Given the description of an element on the screen output the (x, y) to click on. 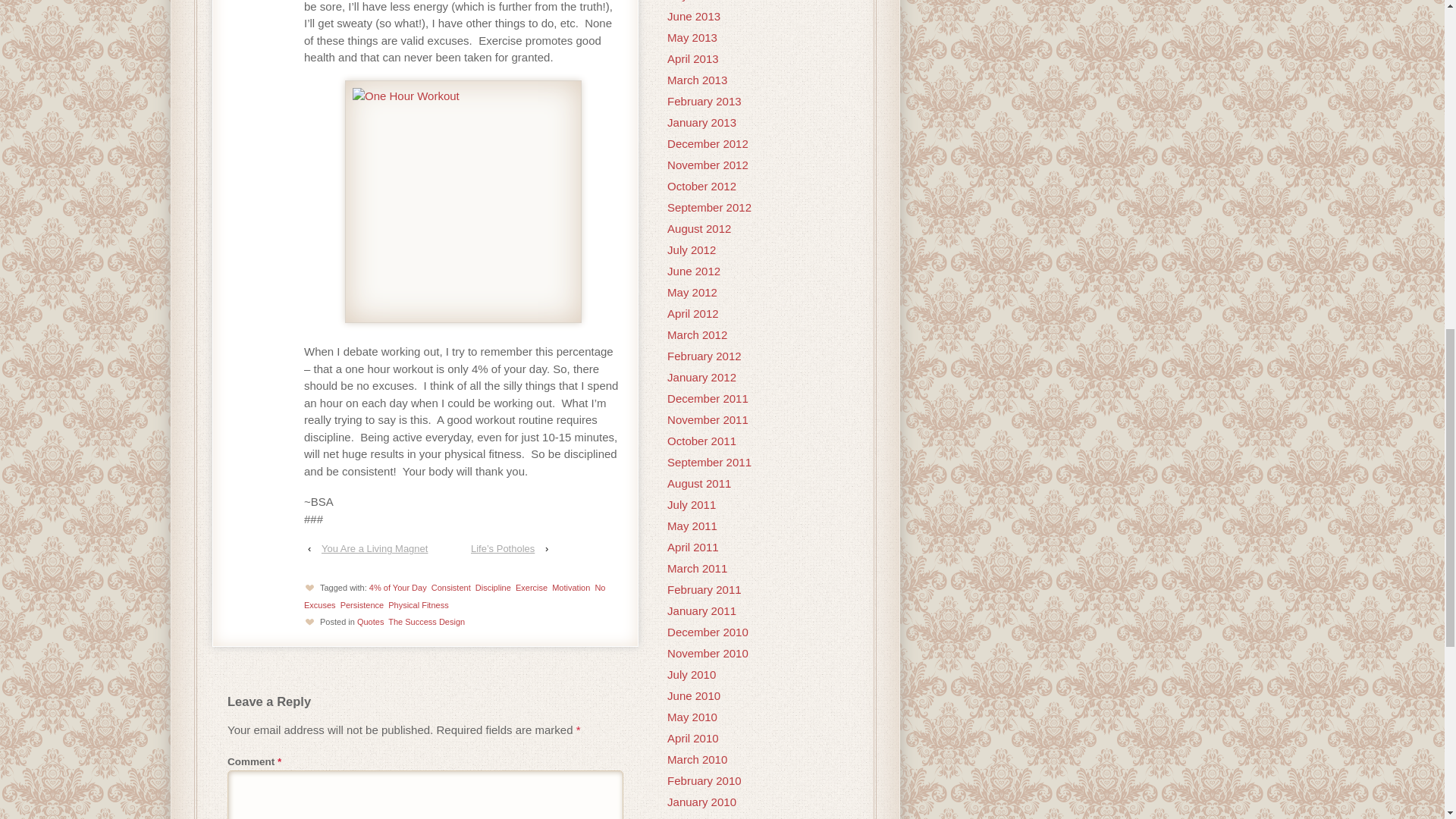
Motivation (570, 587)
Consistent (450, 587)
You Are a Living Magnet (374, 548)
The Success Design (426, 621)
Exercise (531, 587)
Discipline (493, 587)
Physical Fitness (418, 604)
Persistence (362, 604)
Quotes (370, 621)
No Excuses (454, 596)
